Given the description of an element on the screen output the (x, y) to click on. 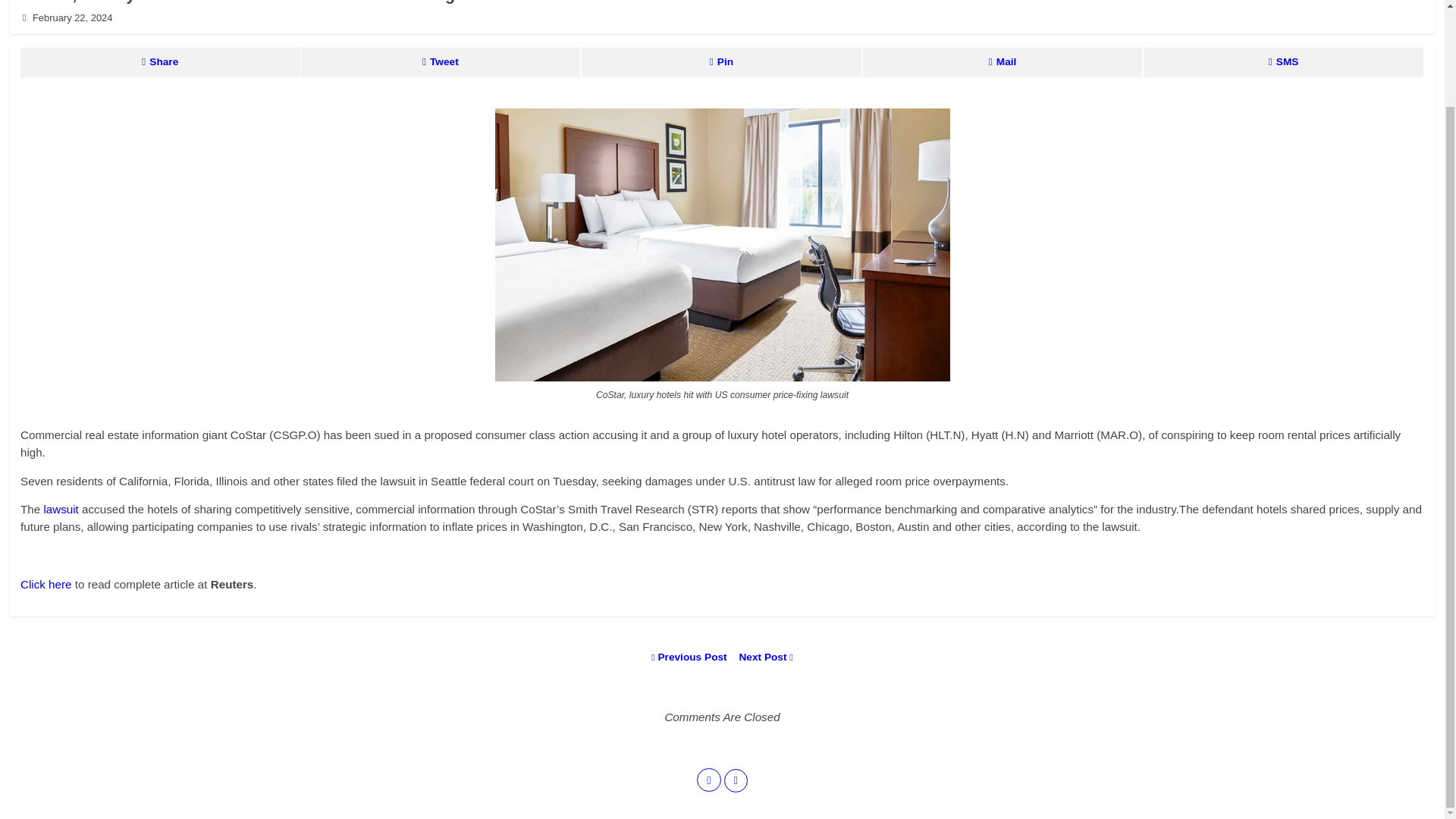
Click here (45, 584)
lawsuit (60, 508)
Next Post (762, 657)
Share (159, 61)
SMS (1282, 61)
Mail (1001, 61)
Twitter (708, 779)
Pin (720, 61)
Facebook (734, 780)
Tweet (439, 61)
Previous Post (689, 657)
